Given the description of an element on the screen output the (x, y) to click on. 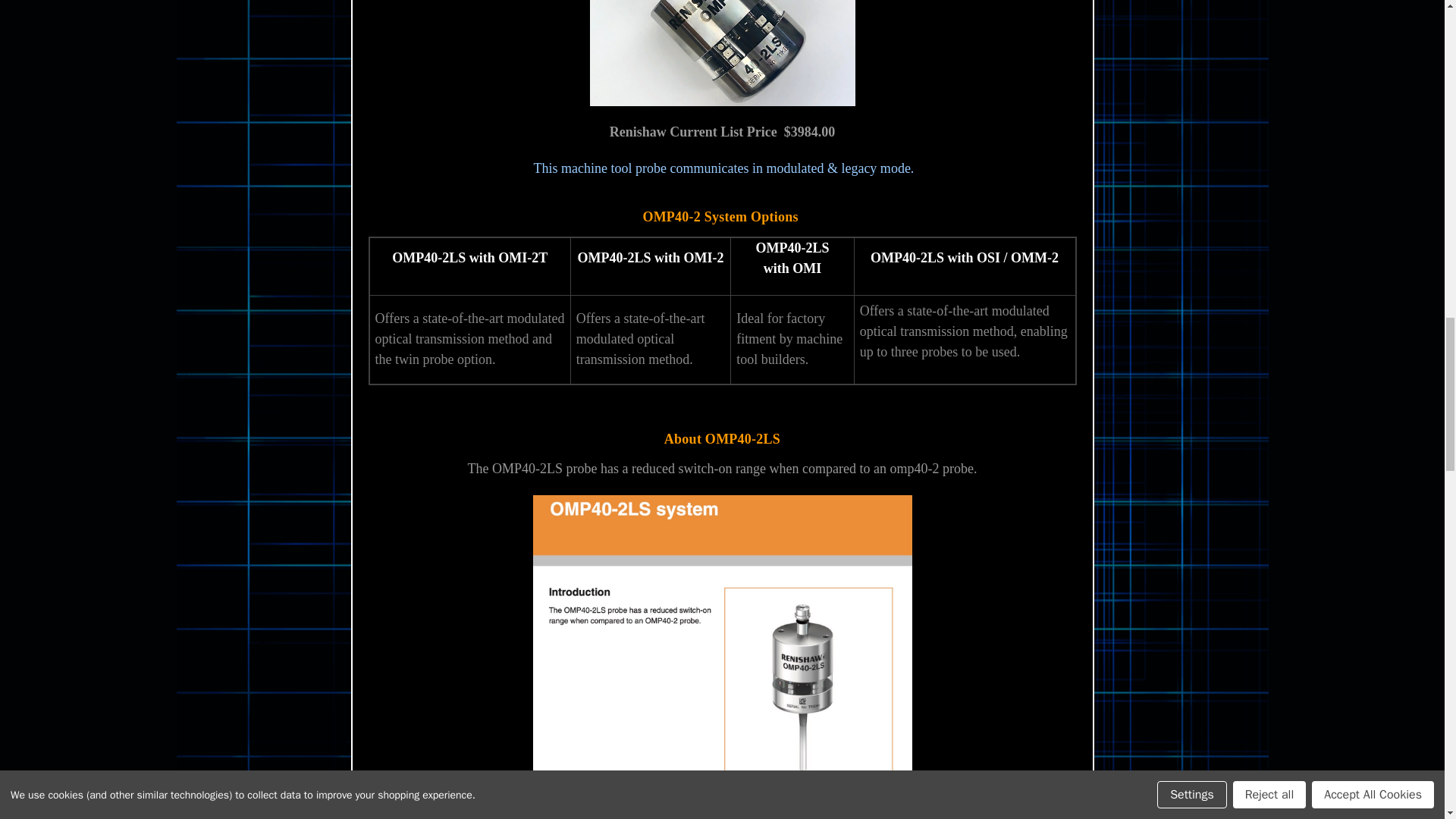
renishaw-omp40-2ls-machine-tool-probe-image-.jpeg (722, 53)
renishaw-omp40-2ls-machine-tool-probe-data-sheet-.jpeg (721, 657)
